Given the description of an element on the screen output the (x, y) to click on. 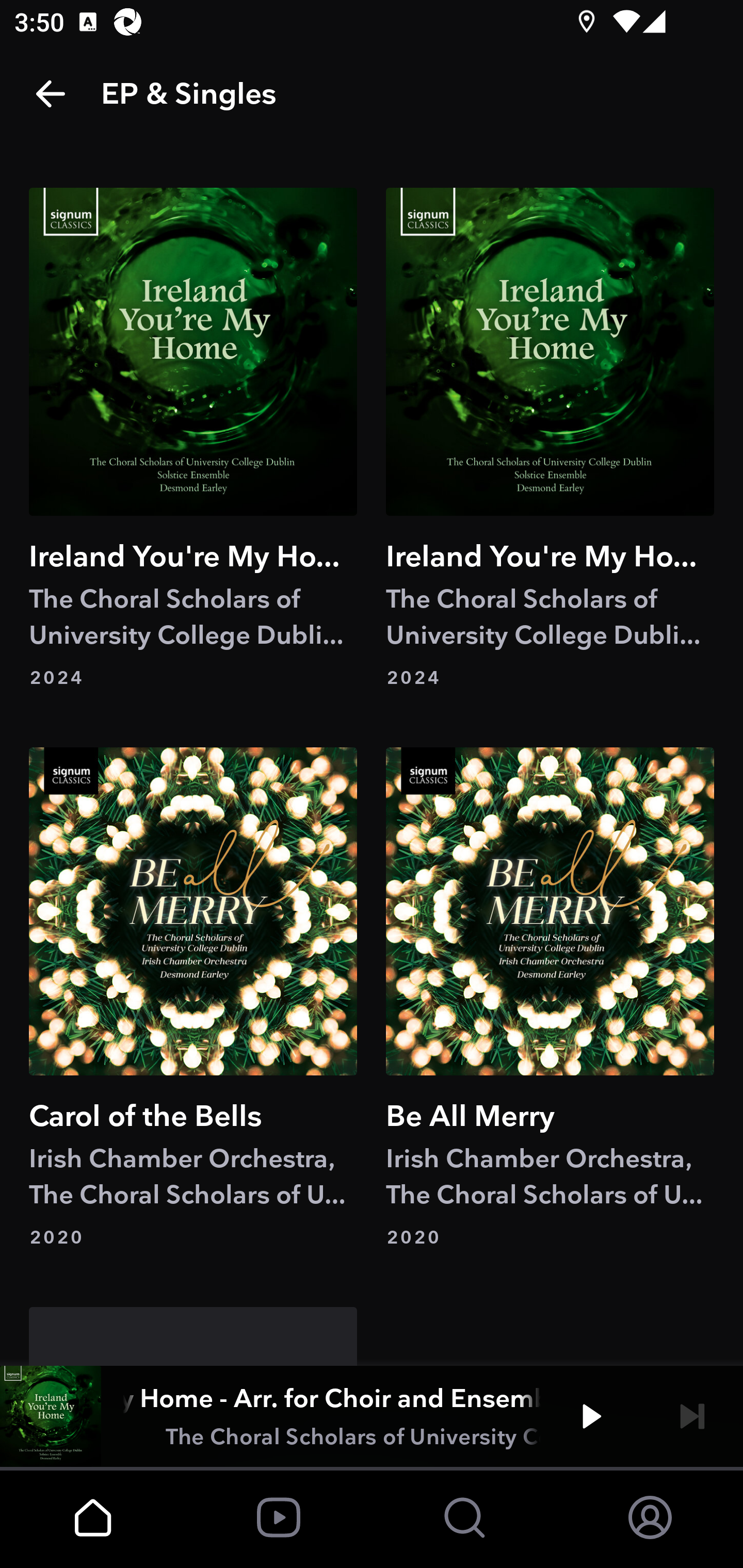
Play (590, 1416)
